Given the description of an element on the screen output the (x, y) to click on. 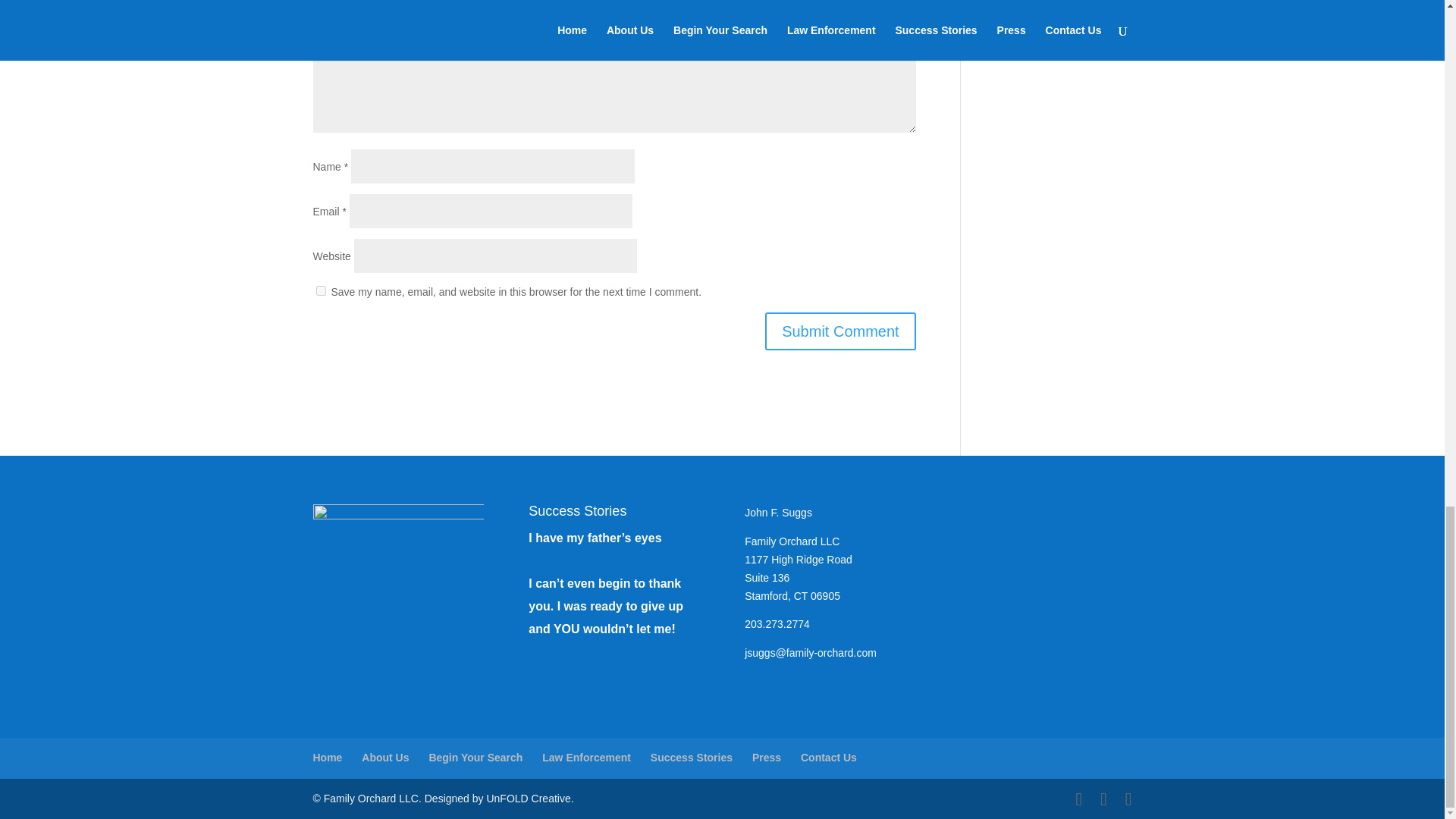
yes (319, 290)
Submit Comment (840, 331)
Success Stories (691, 757)
About Us (385, 757)
Submit Comment (840, 331)
Contact Us (828, 757)
Press (766, 757)
Home (327, 757)
Begin Your Search (475, 757)
Law Enforcement (585, 757)
